Given the description of an element on the screen output the (x, y) to click on. 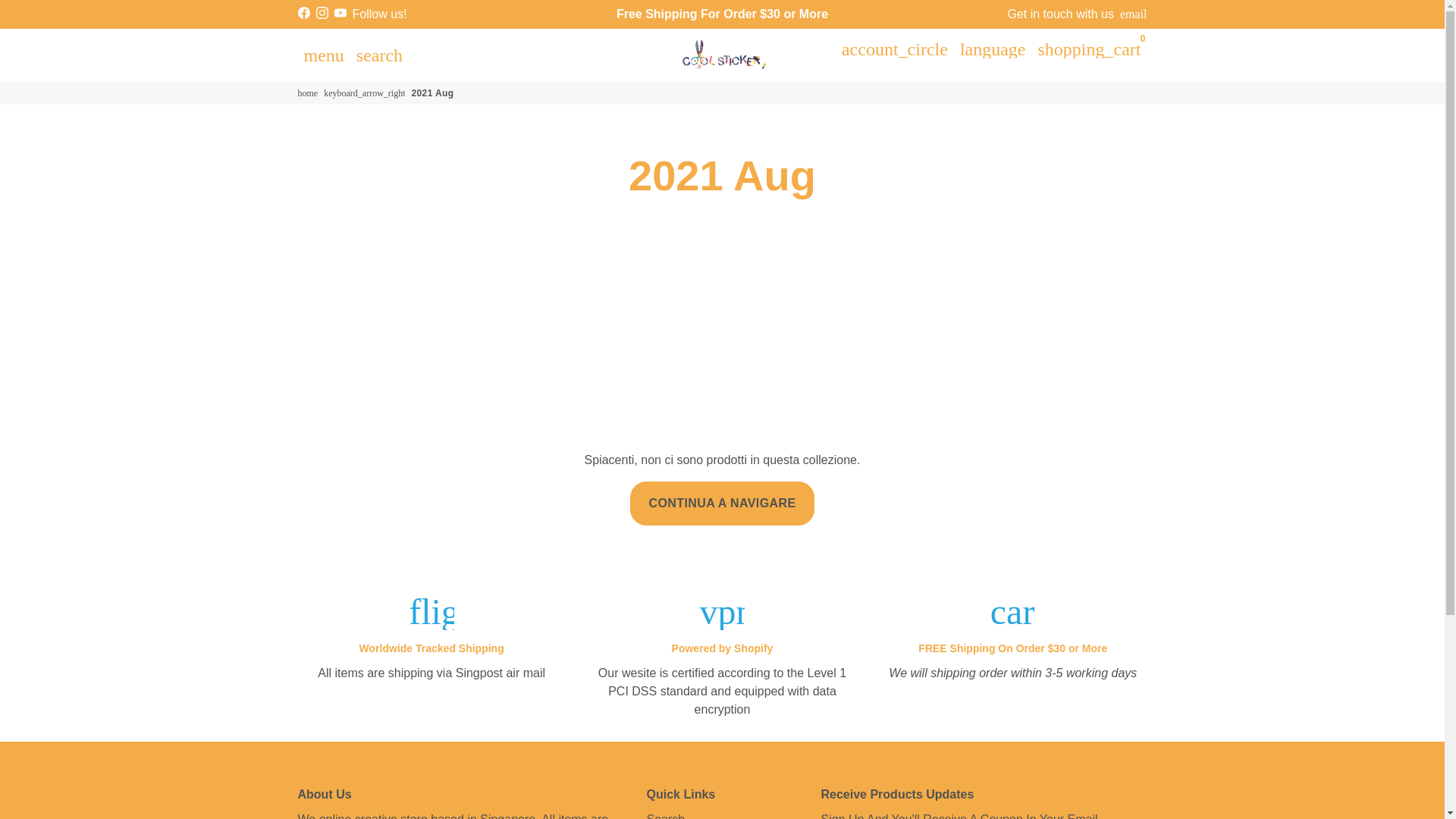
Menu (323, 54)
email (1133, 13)
search (379, 54)
CoolSticker su Facebook (302, 12)
Carrello (1089, 48)
Cerca (379, 54)
CoolSticker su Youtube (339, 12)
Coolsticker (307, 92)
menu (323, 54)
Accedi (894, 48)
CoolSticker su Instagram (321, 12)
